Given the description of an element on the screen output the (x, y) to click on. 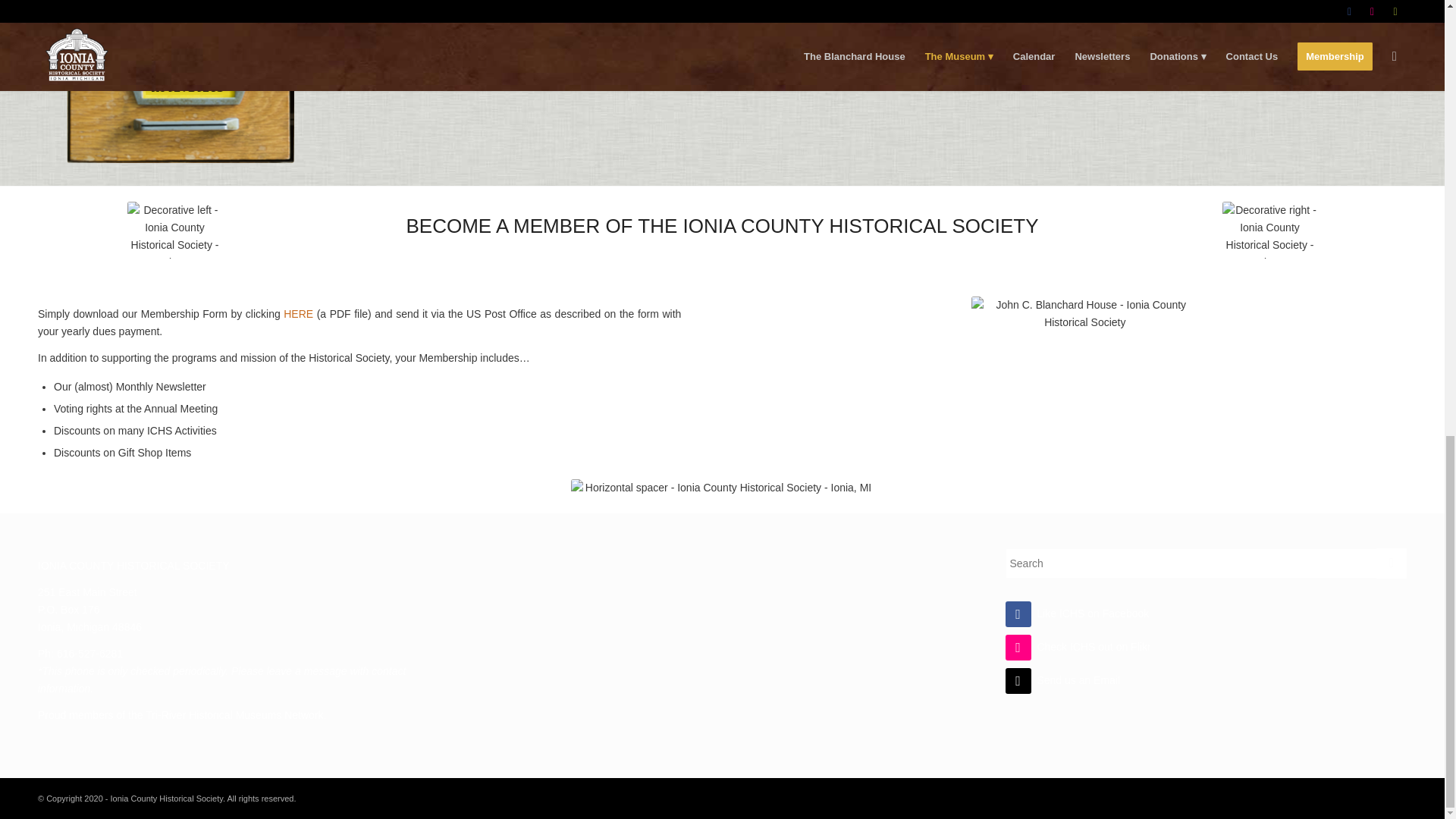
Like ICHS on Facebook (1078, 613)
Send us an Email (1063, 680)
Check ICHS out on Flikr (1078, 646)
HERE (298, 313)
the Tri-River Historical Museums Network. (227, 715)
